Given the description of an element on the screen output the (x, y) to click on. 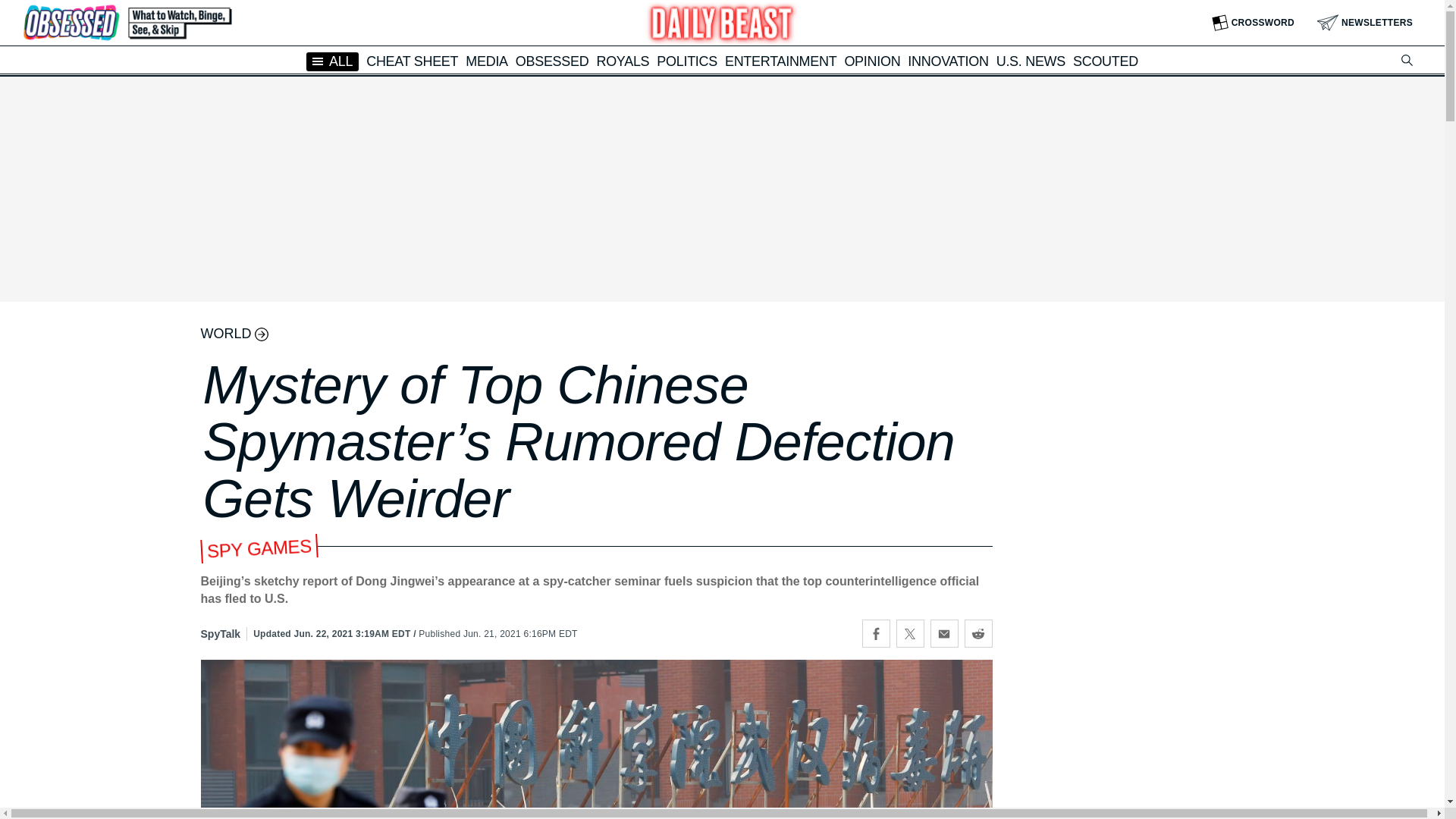
CROSSWORD (1252, 22)
OBSESSED (552, 60)
MEDIA (486, 60)
SCOUTED (1105, 60)
CHEAT SHEET (412, 60)
POLITICS (686, 60)
OPINION (871, 60)
ENTERTAINMENT (780, 60)
ALL (331, 60)
INNOVATION (947, 60)
ROYALS (622, 60)
U.S. NEWS (1030, 60)
NEWSLETTERS (1364, 22)
